Given the description of an element on the screen output the (x, y) to click on. 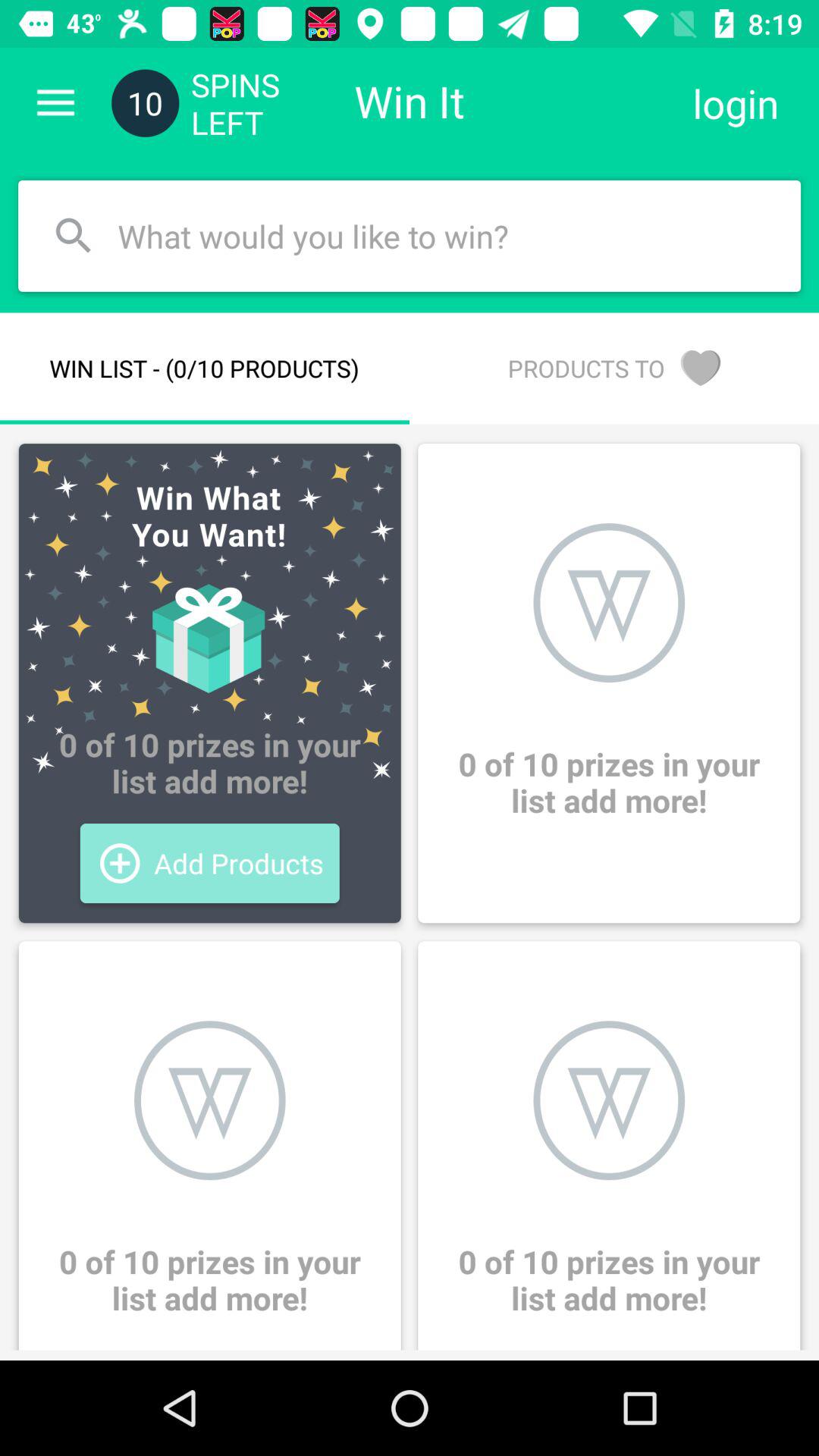
turn off the icon to the left of the 10 (55, 103)
